Given the description of an element on the screen output the (x, y) to click on. 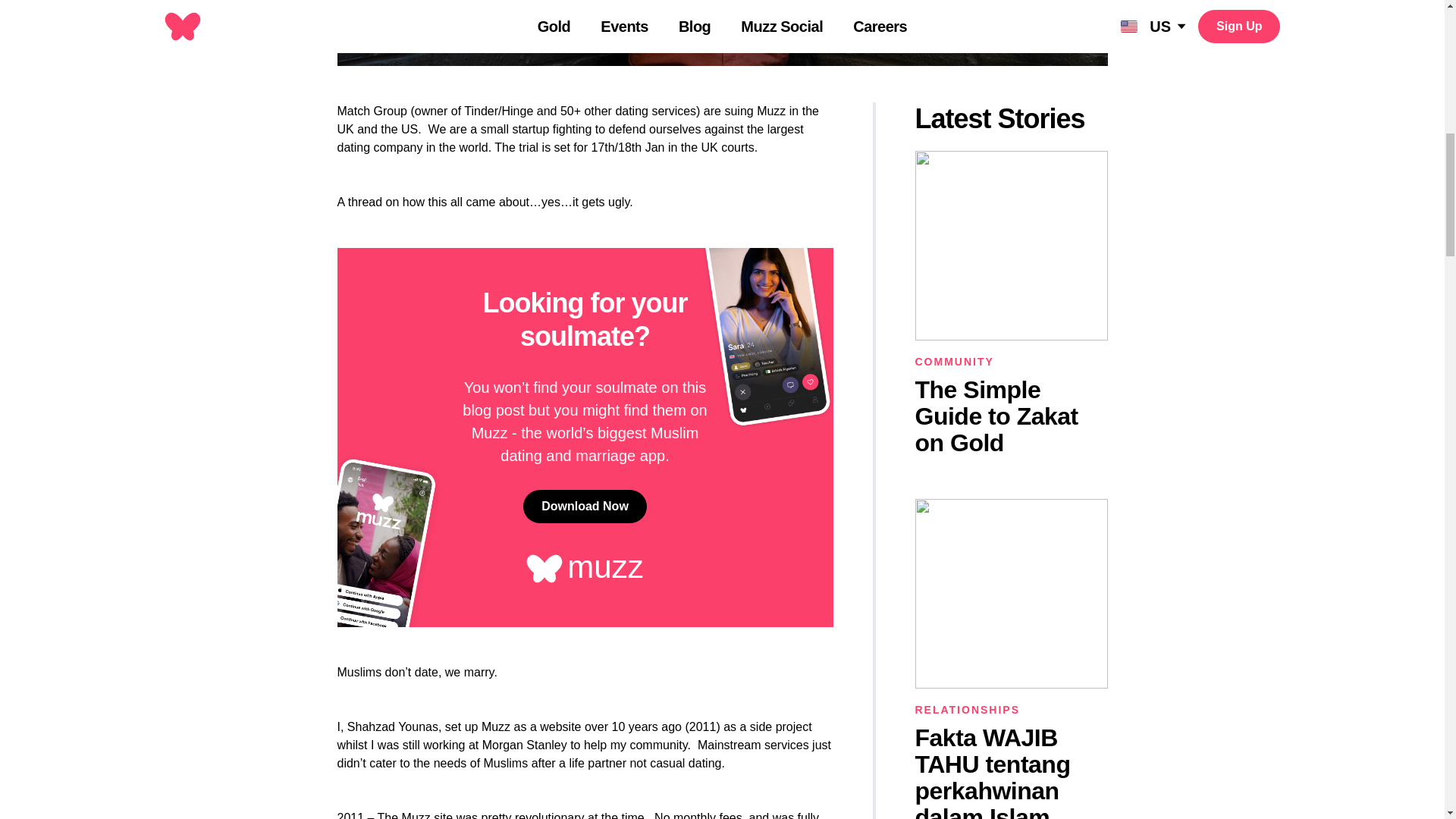
Download Now (584, 506)
